Given the description of an element on the screen output the (x, y) to click on. 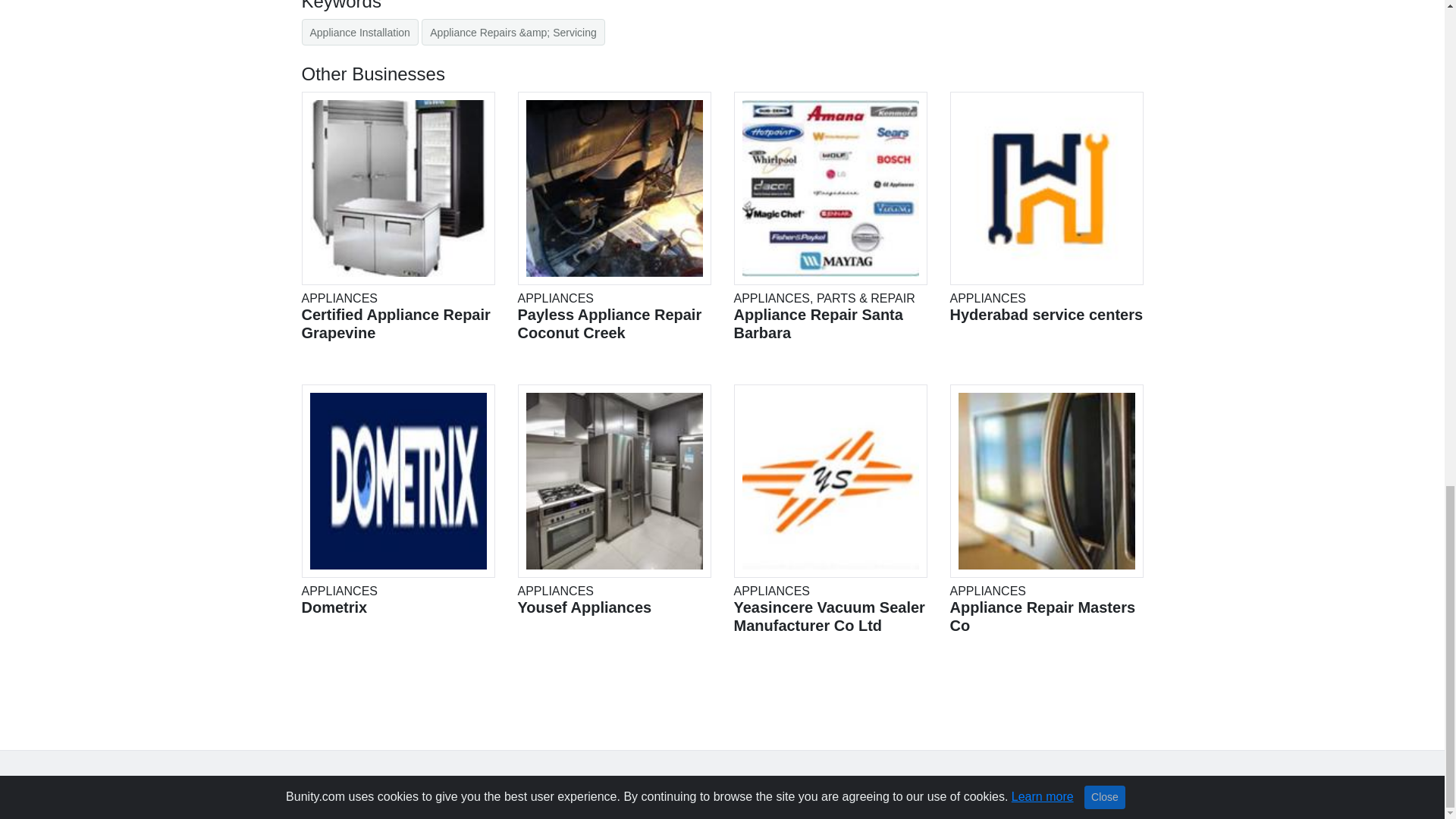
Appliance Installation (360, 31)
